Given the description of an element on the screen output the (x, y) to click on. 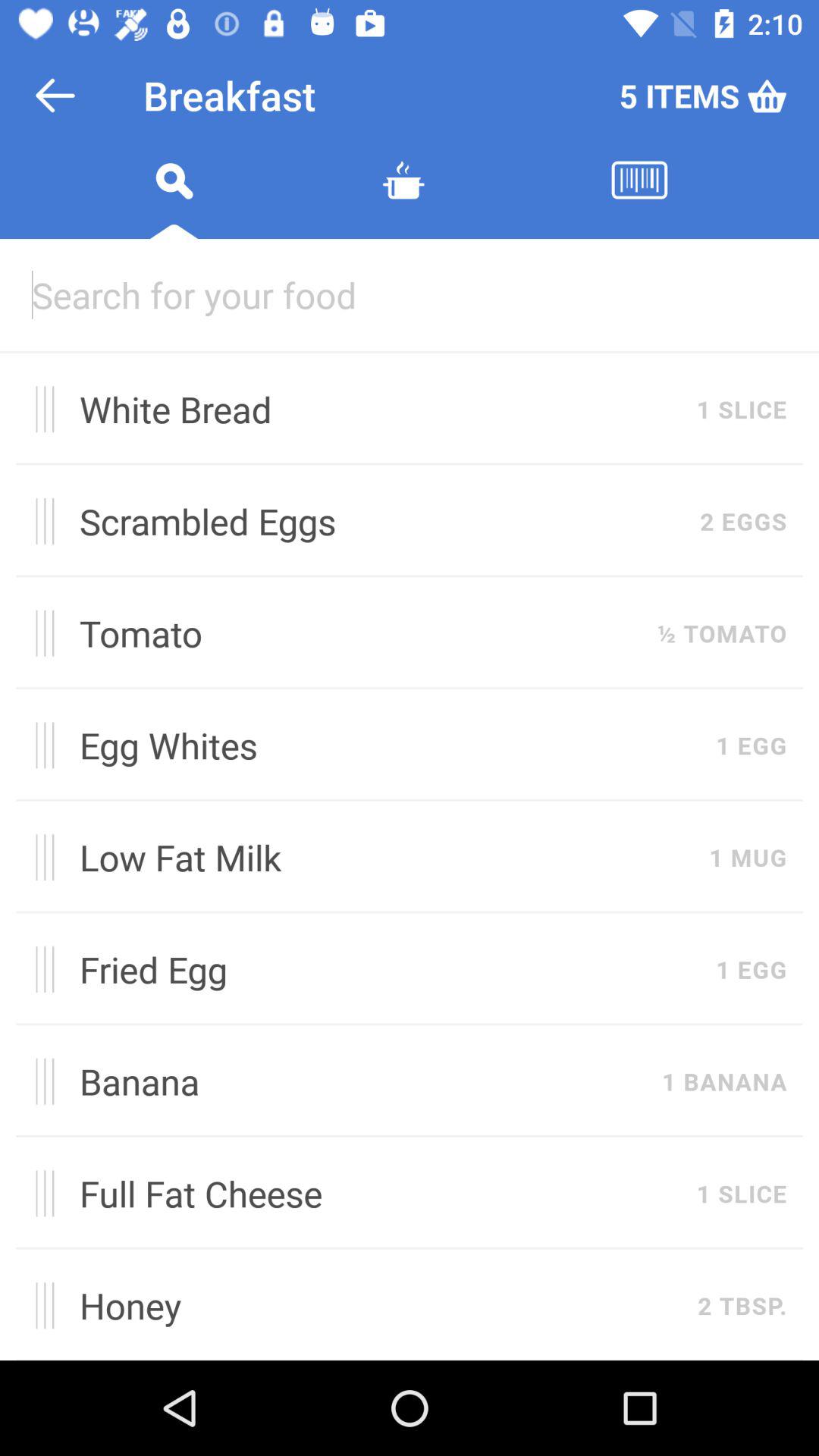
flip until white bread icon (379, 409)
